Given the description of an element on the screen output the (x, y) to click on. 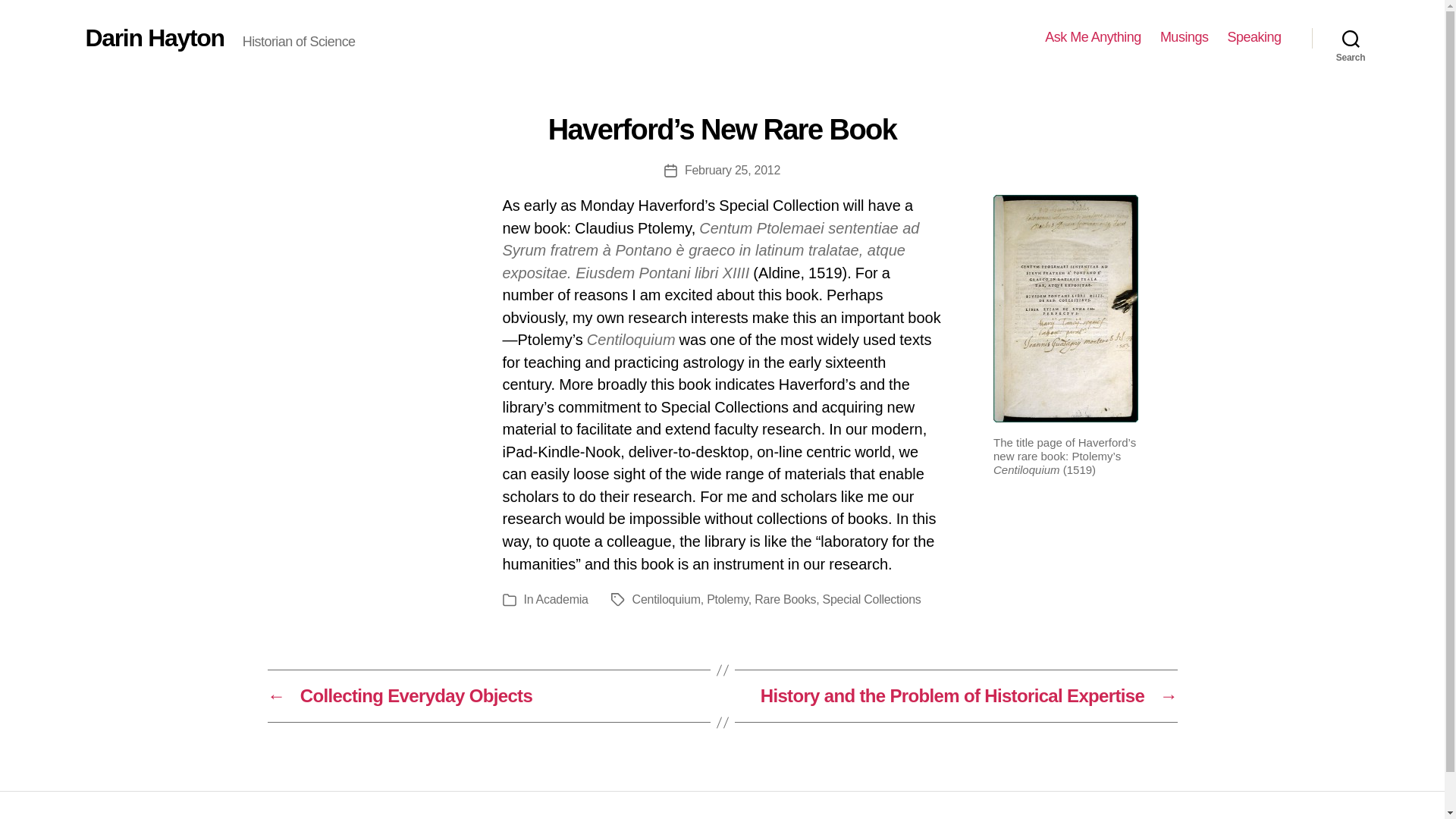
Speaking (1254, 37)
Special Collections (871, 599)
Darin Hayton (355, 817)
February 25, 2012 (732, 169)
Musings (1184, 37)
Rare Books (784, 599)
Search (1350, 37)
Ptolemy (727, 599)
Centiloquium (665, 599)
Academia (561, 599)
Darin Hayton (154, 37)
Ask Me Anything (1093, 37)
